Given the description of an element on the screen output the (x, y) to click on. 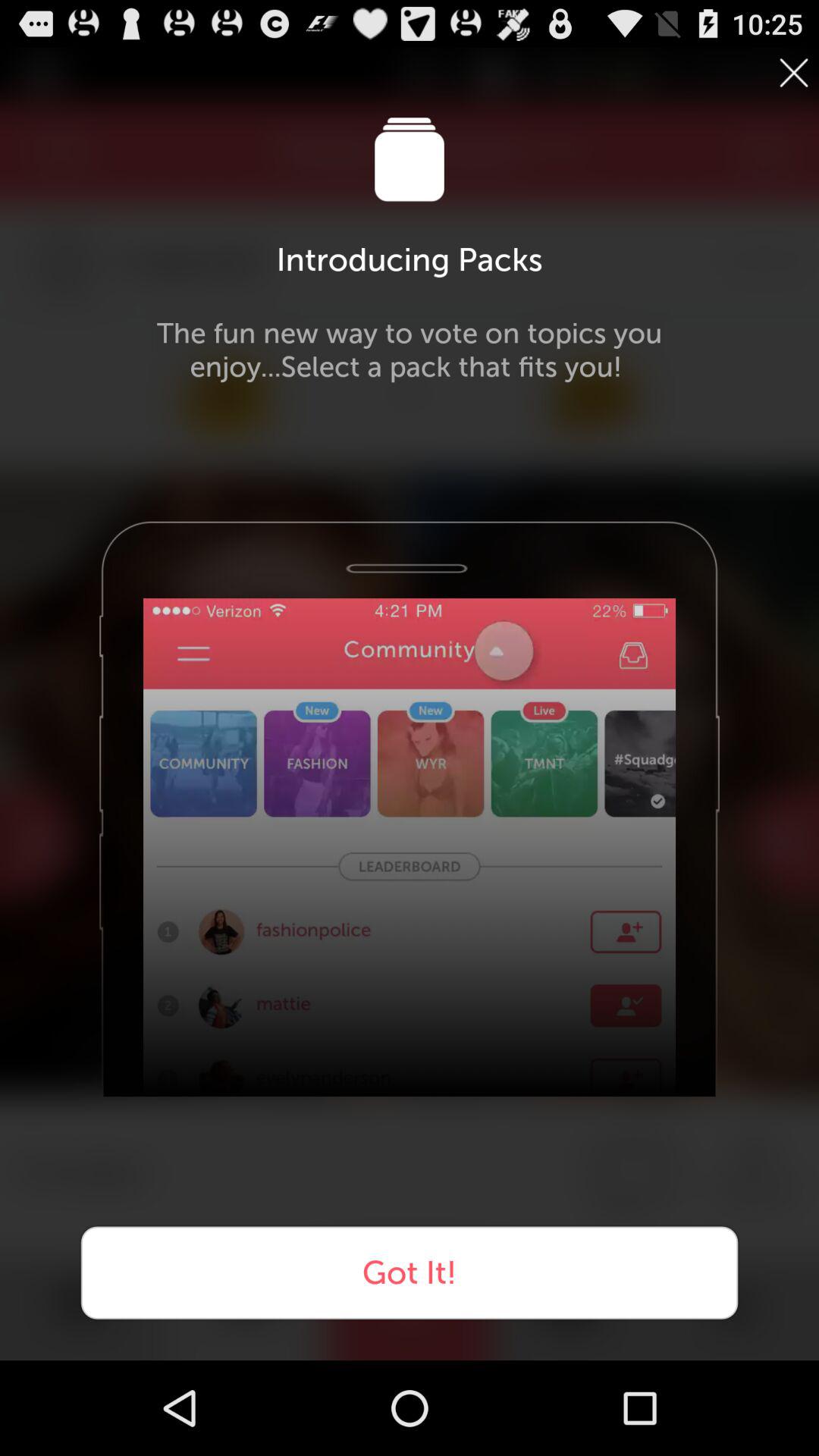
flip to got it! (409, 1272)
